Given the description of an element on the screen output the (x, y) to click on. 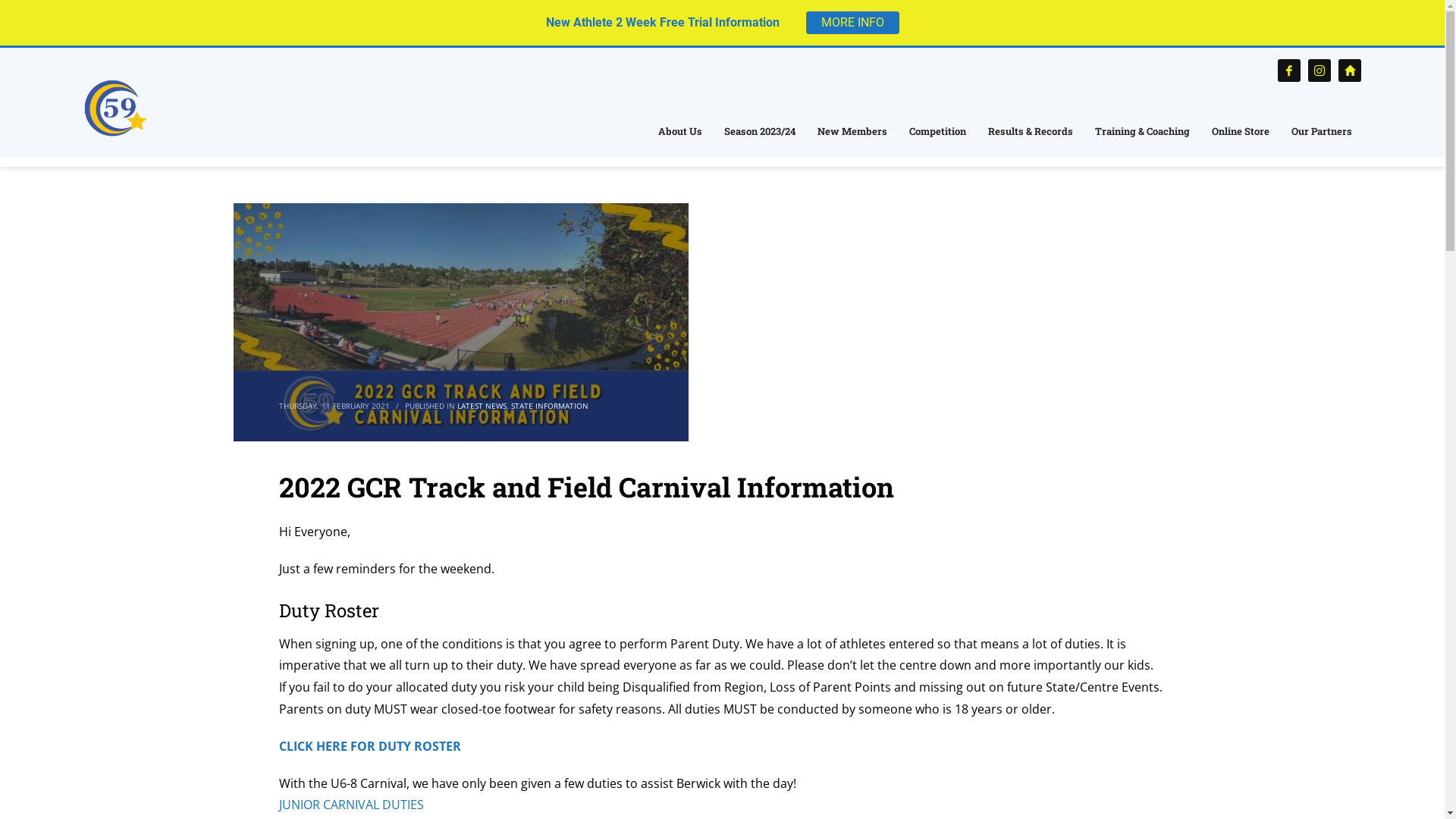
LATEST NEWS Element type: text (333, 165)
Facebook Element type: hover (1288, 70)
CLAC59 Element type: hover (115, 108)
Instagram Element type: hover (1319, 70)
HOME Element type: text (245, 165)
CLICK HERE FOR DUTY ROSTER Element type: text (370, 745)
JUNIOR CARNIVAL DUTIES Element type: text (351, 804)
Season 2023/24 Element type: text (759, 131)
About Us Element type: text (680, 131)
Online Store Element type: text (1240, 131)
Competition Element type: text (937, 131)
MORE INFO Element type: text (851, 22)
LATEST NEWS Element type: text (480, 405)
STATE INFORMATION Element type: text (549, 405)
Our Partners Element type: text (1321, 131)
Training & Coaching Element type: text (1141, 131)
TeamApp Element type: hover (1349, 70)
Copy of SEASON 2122 - WEEKLY EVENT Element type: hover (460, 322)
Results & Records Element type: text (1030, 131)
New Members Element type: text (852, 131)
NEWS Element type: text (282, 165)
